Given the description of an element on the screen output the (x, y) to click on. 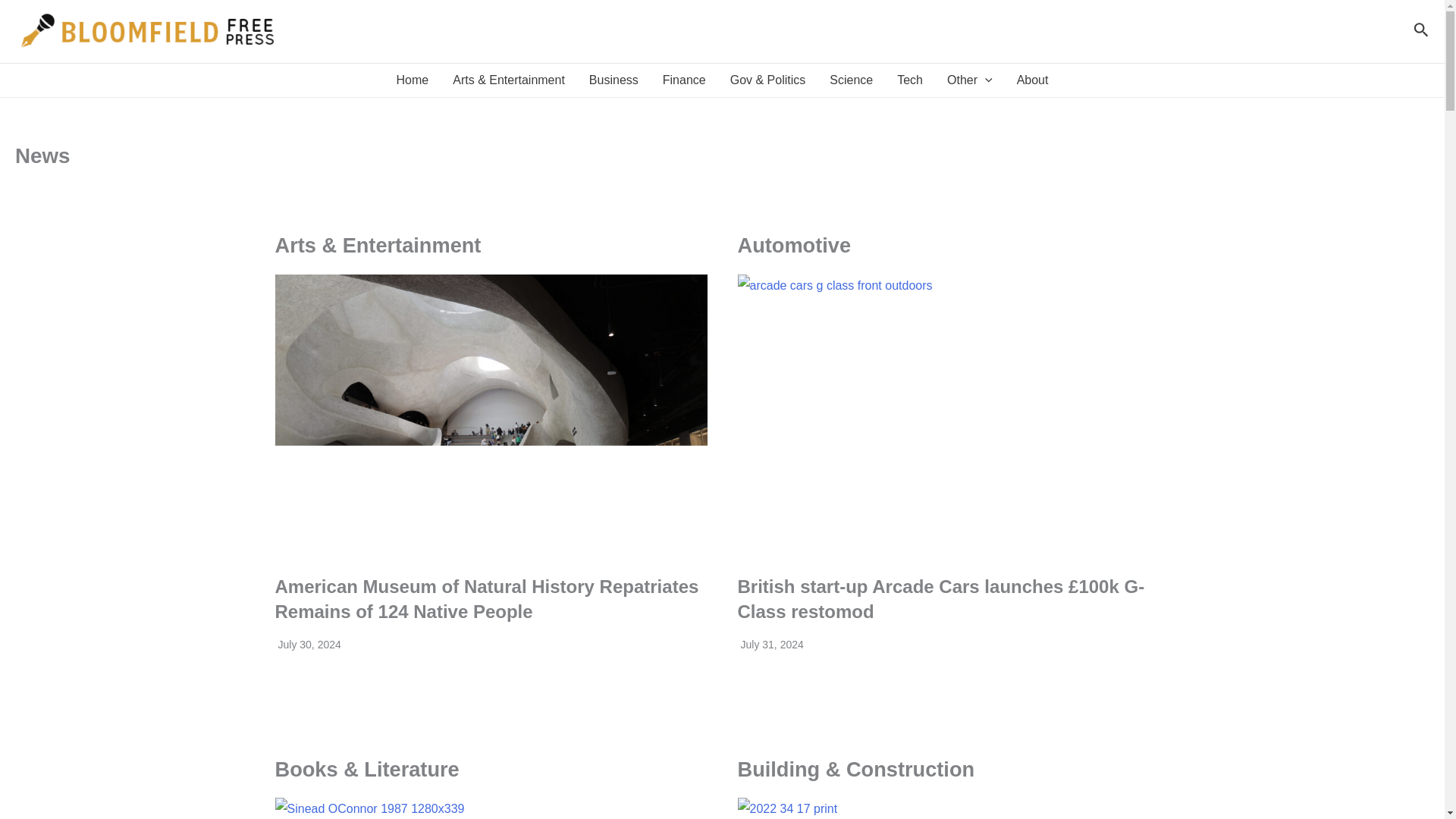
Science (850, 80)
Home (412, 80)
Business (613, 80)
About (1032, 80)
Finance (683, 80)
Other (969, 80)
Tech (909, 80)
